Given the description of an element on the screen output the (x, y) to click on. 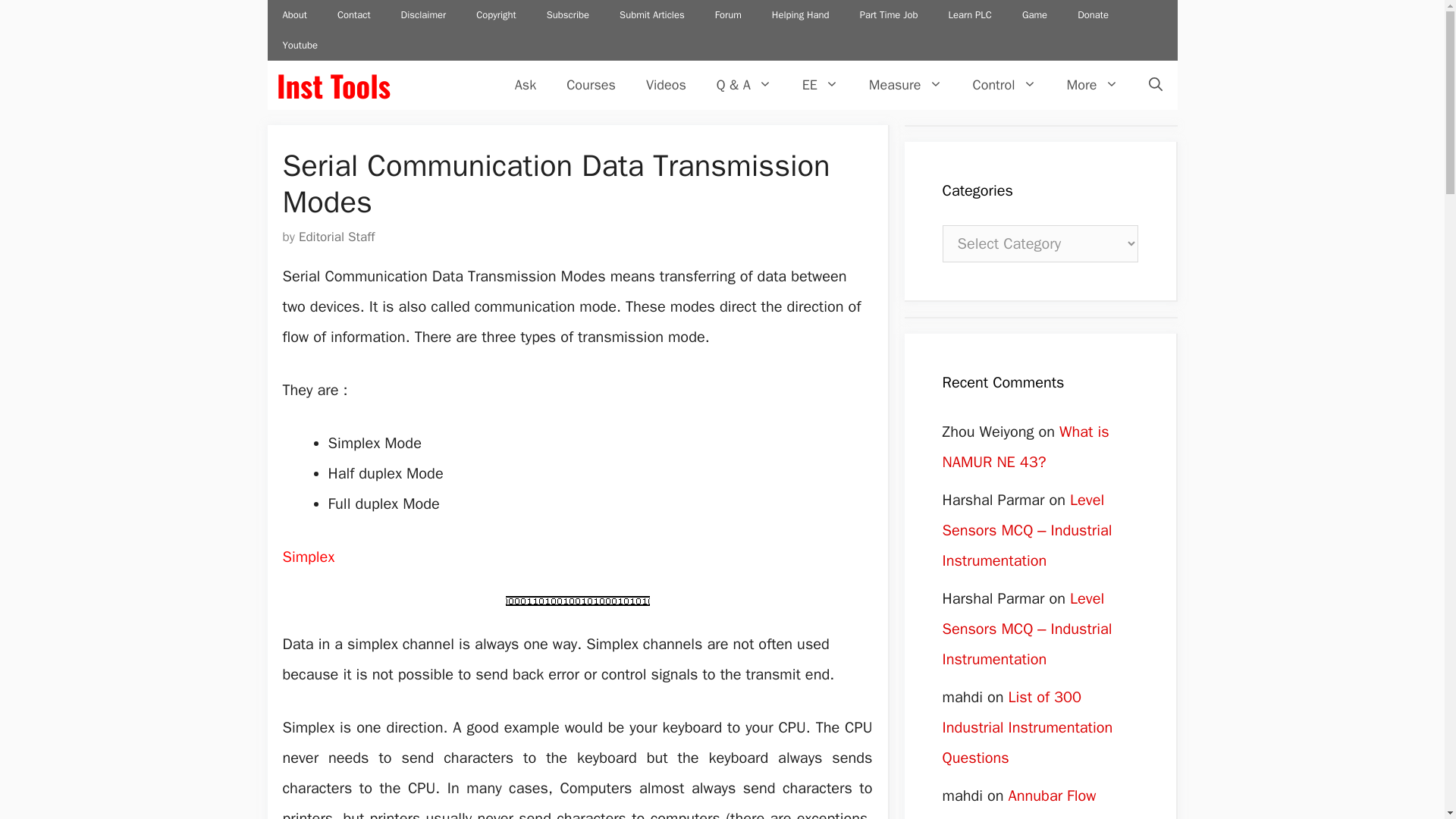
About (293, 15)
Inst Tools (333, 84)
Game (1034, 15)
Donate (1093, 15)
Submit Articles (652, 15)
View all posts by Editorial Staff (336, 236)
Forum (728, 15)
Copyright (496, 15)
Learn PLC (969, 15)
Subscribe (567, 15)
